Given the description of an element on the screen output the (x, y) to click on. 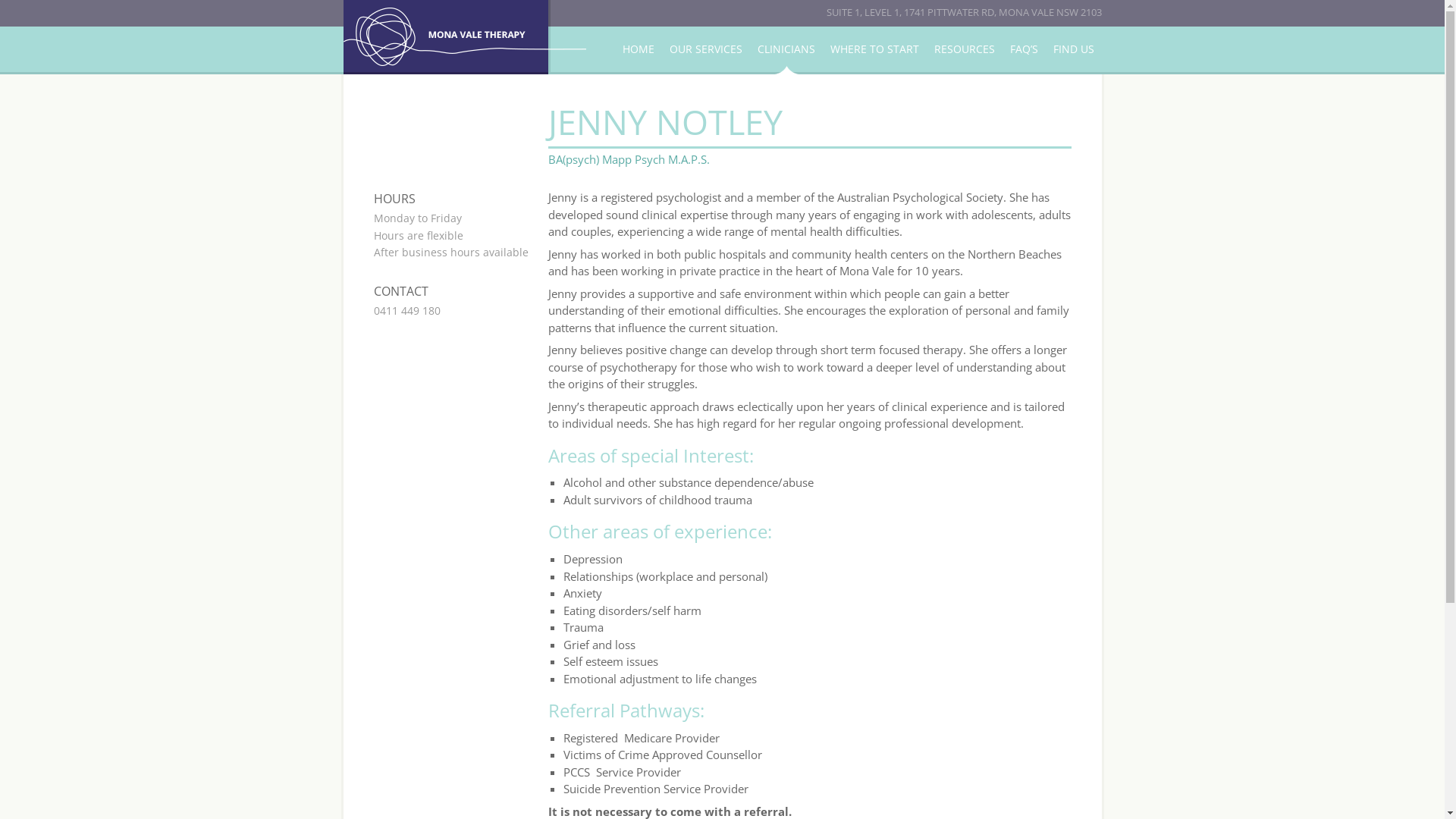
CLINICIANS Element type: text (785, 49)
RESOURCES Element type: text (964, 49)
HOME Element type: text (637, 49)
WHERE TO START Element type: text (873, 49)
FIND US Element type: text (1072, 49)
OUR SERVICES Element type: text (705, 49)
